Given the description of an element on the screen output the (x, y) to click on. 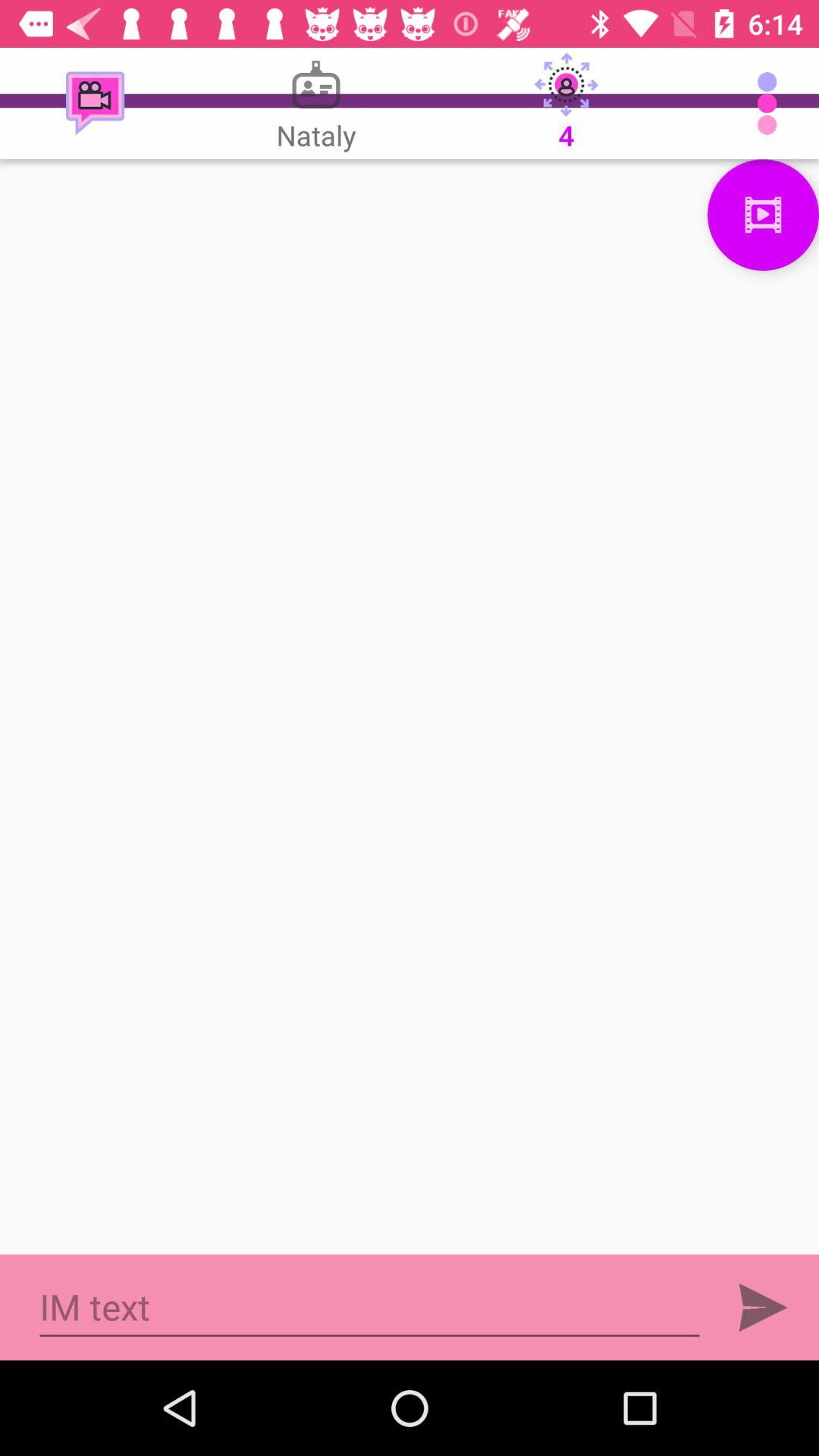
play button (763, 1307)
